Given the description of an element on the screen output the (x, y) to click on. 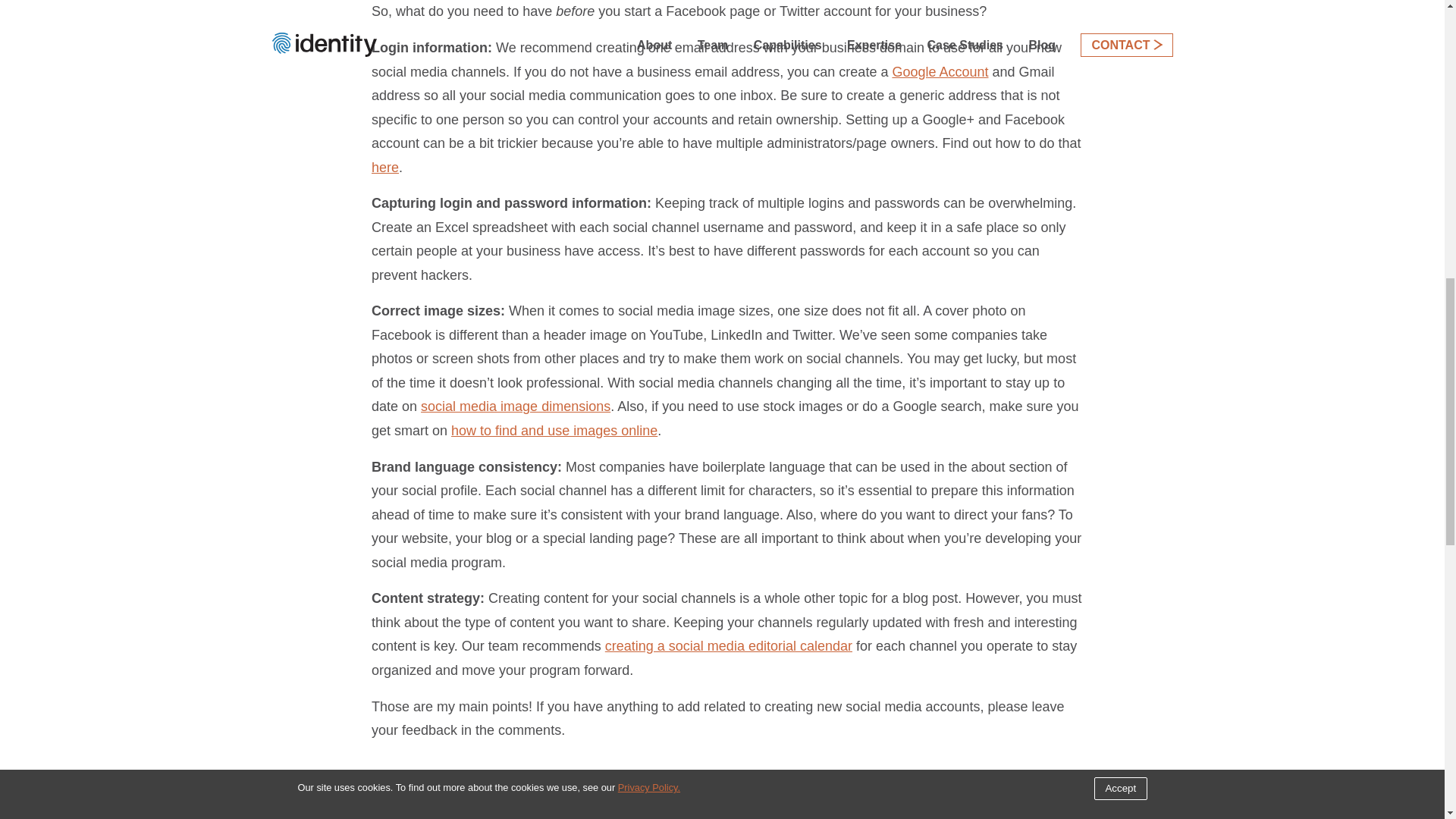
how to find and use images online (554, 430)
creating a social media editorial calendar (728, 645)
social media image dimensions (515, 406)
here (384, 167)
Google Account (939, 71)
